Given the description of an element on the screen output the (x, y) to click on. 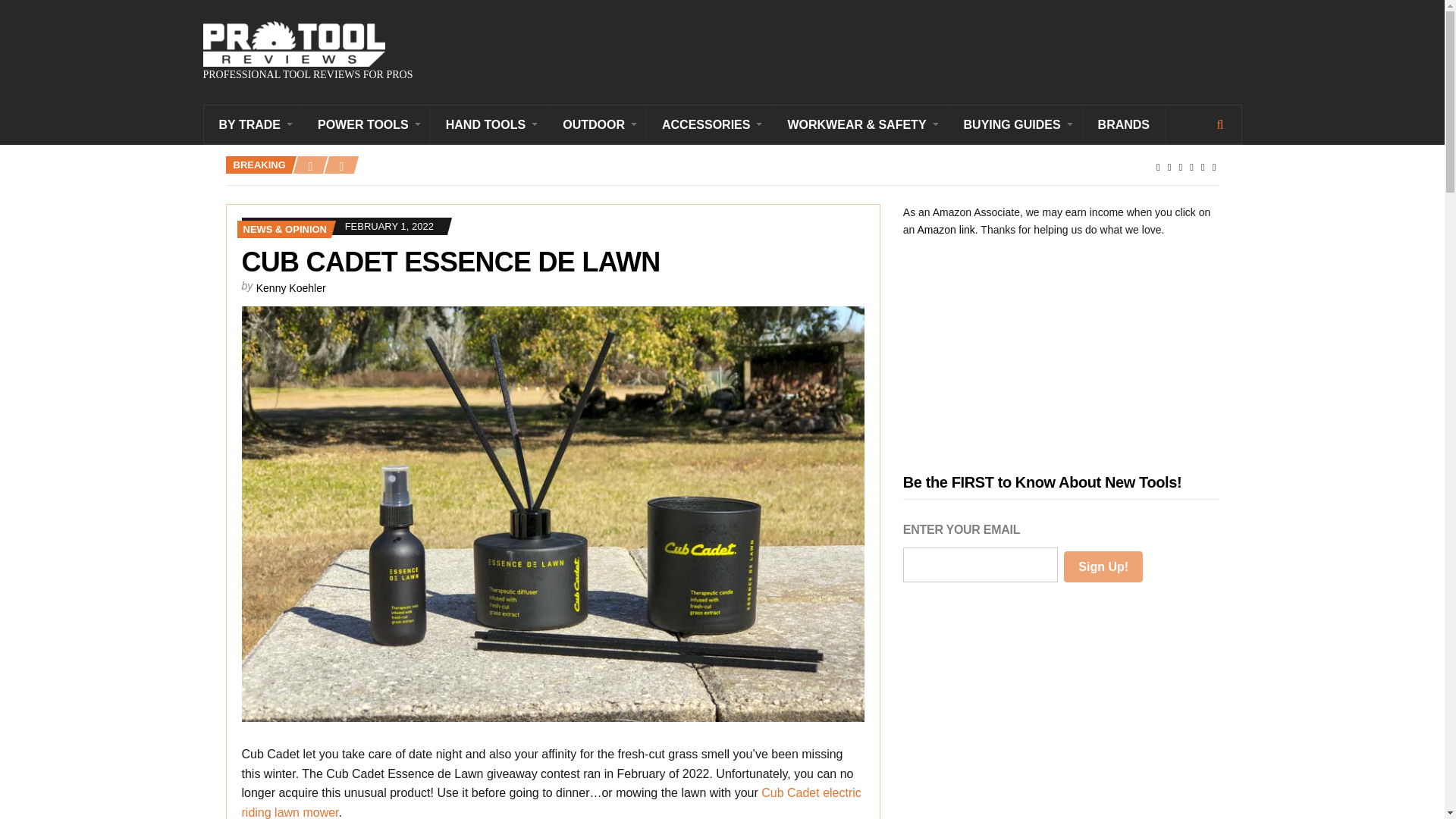
BY TRADE (252, 124)
POWER TOOLS (366, 124)
Sign Up! (1103, 566)
HAND TOOLS (488, 124)
